Given the description of an element on the screen output the (x, y) to click on. 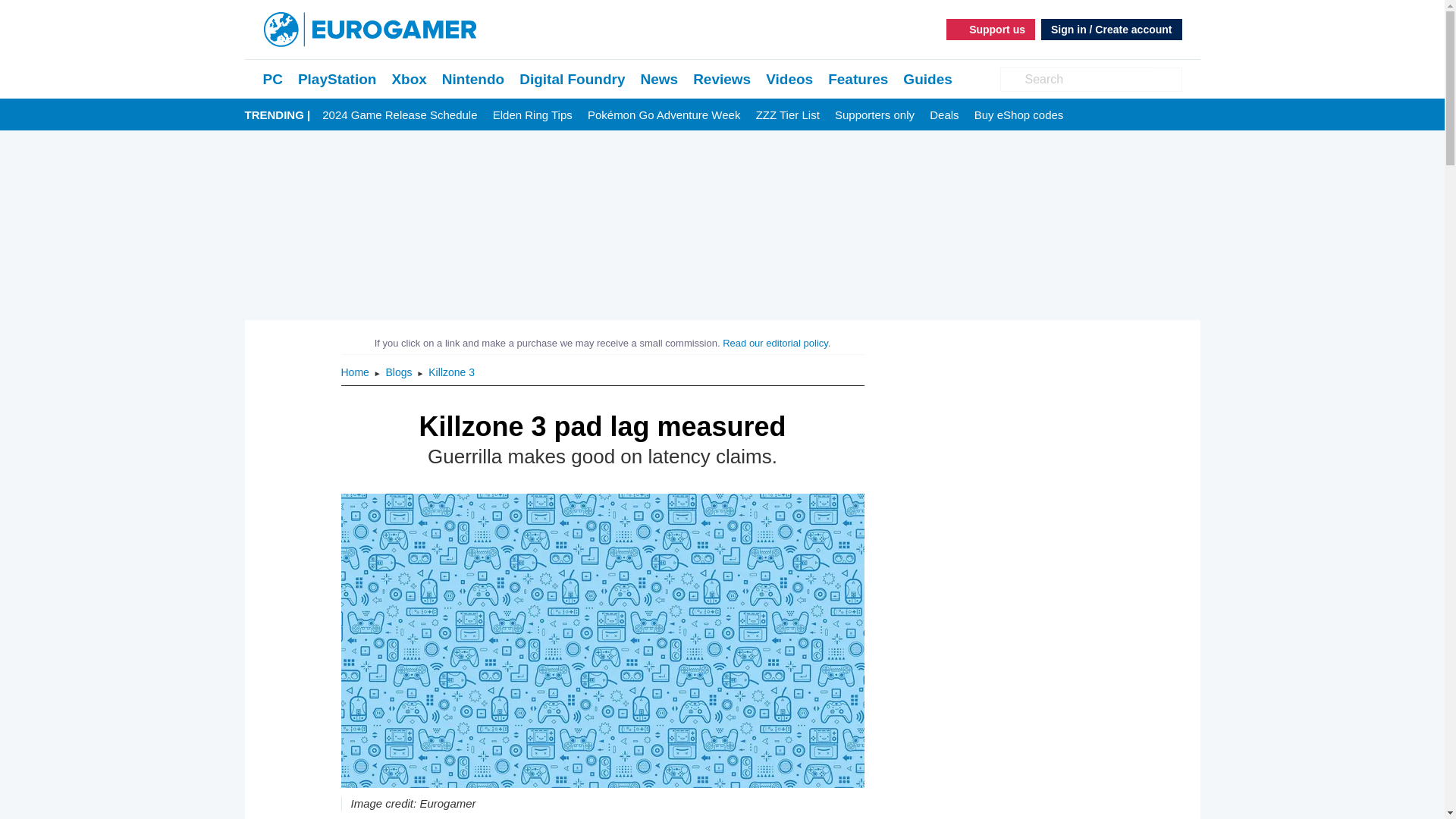
Home (356, 372)
Digital Foundry (571, 78)
Features (858, 78)
Nintendo (472, 78)
Home (356, 372)
PlayStation (336, 78)
Guides (927, 78)
Reviews (722, 78)
2024 Game Release Schedule (399, 114)
Blogs (399, 372)
